Given the description of an element on the screen output the (x, y) to click on. 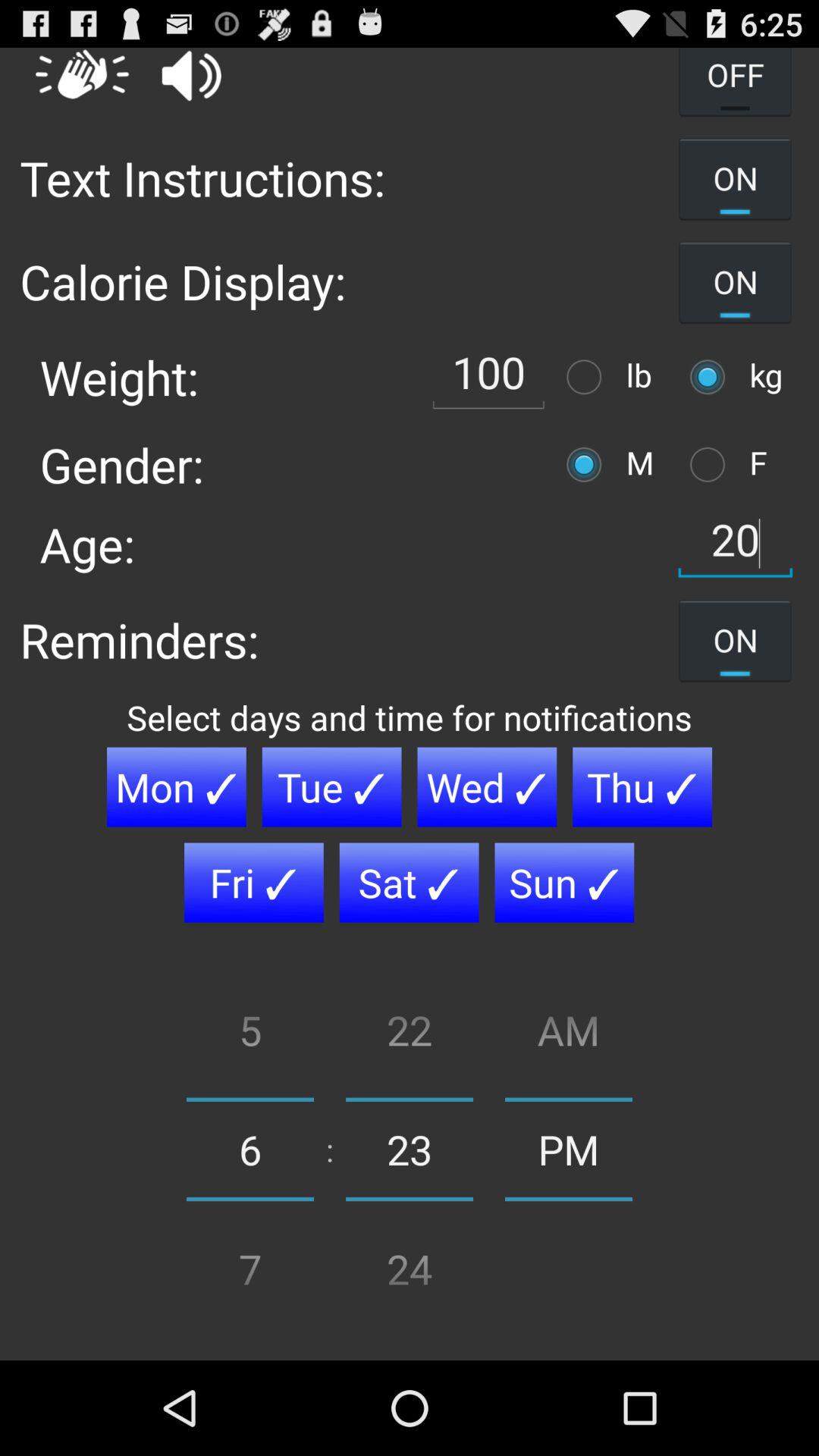
poit (587, 464)
